Given the description of an element on the screen output the (x, y) to click on. 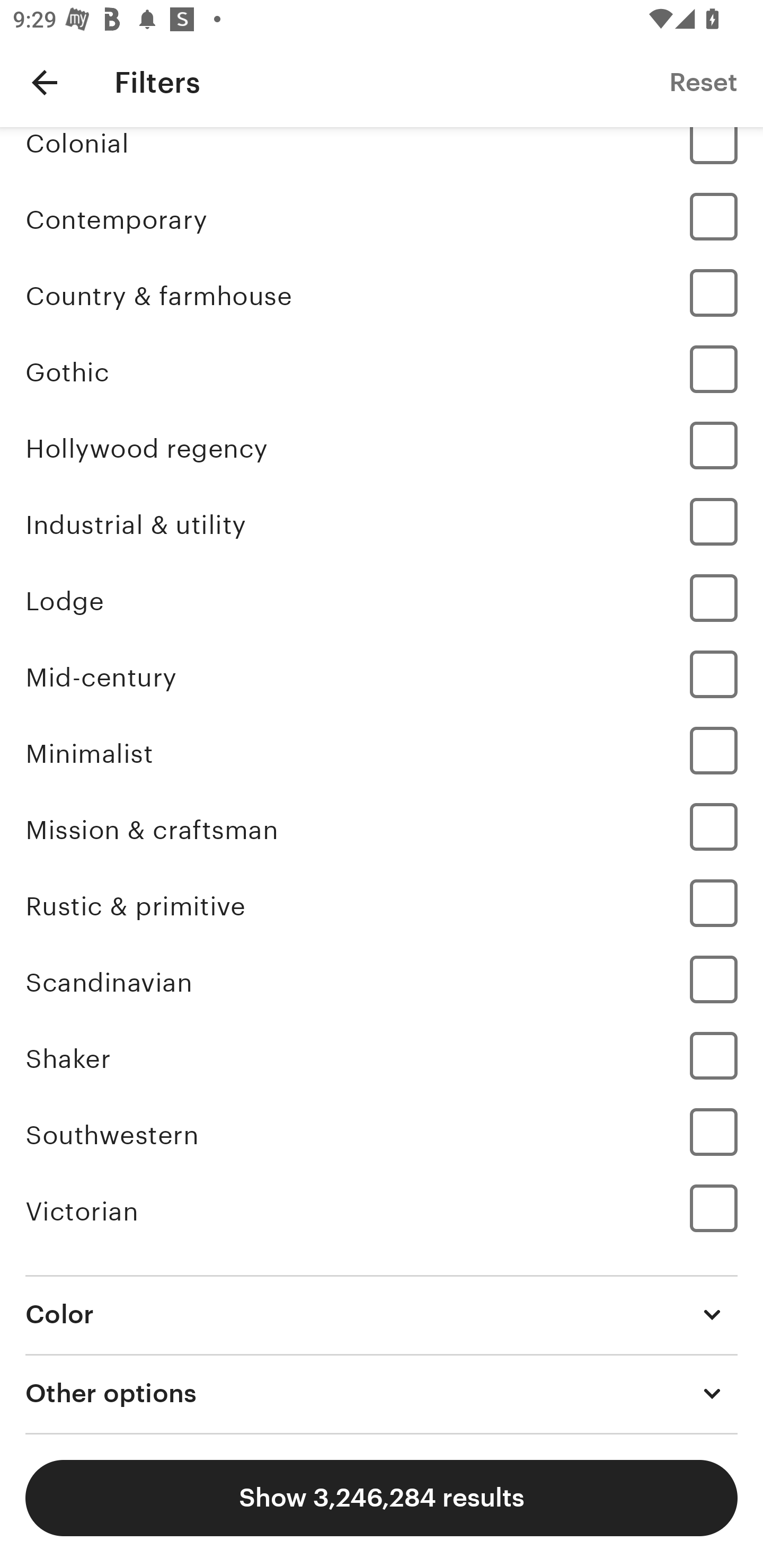
Navigate up (44, 82)
Reset (703, 81)
Colonial (381, 154)
Contemporary (381, 219)
Country & farmhouse (381, 295)
Gothic (381, 371)
Hollywood regency (381, 448)
Industrial & utility (381, 524)
Lodge (381, 600)
Mid-century (381, 677)
Minimalist (381, 753)
Mission & craftsman (381, 829)
Rustic & primitive (381, 905)
Scandinavian (381, 981)
Shaker (381, 1058)
Southwestern (381, 1134)
Victorian (381, 1210)
Color (381, 1314)
Other options (381, 1393)
Show 3,246,284 results (381, 1497)
